Given the description of an element on the screen output the (x, y) to click on. 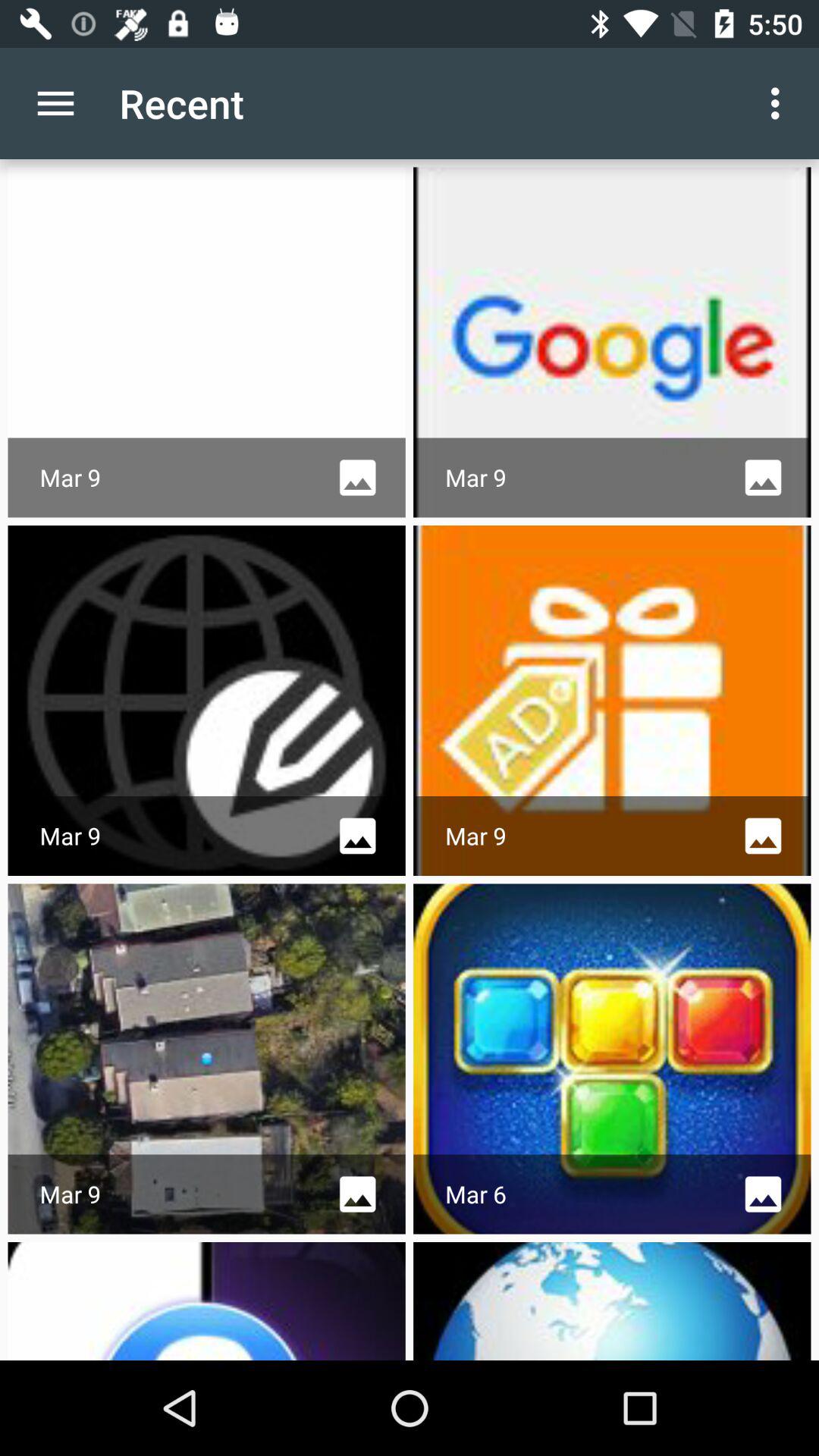
open the app to the left of the recent (55, 103)
